Given the description of an element on the screen output the (x, y) to click on. 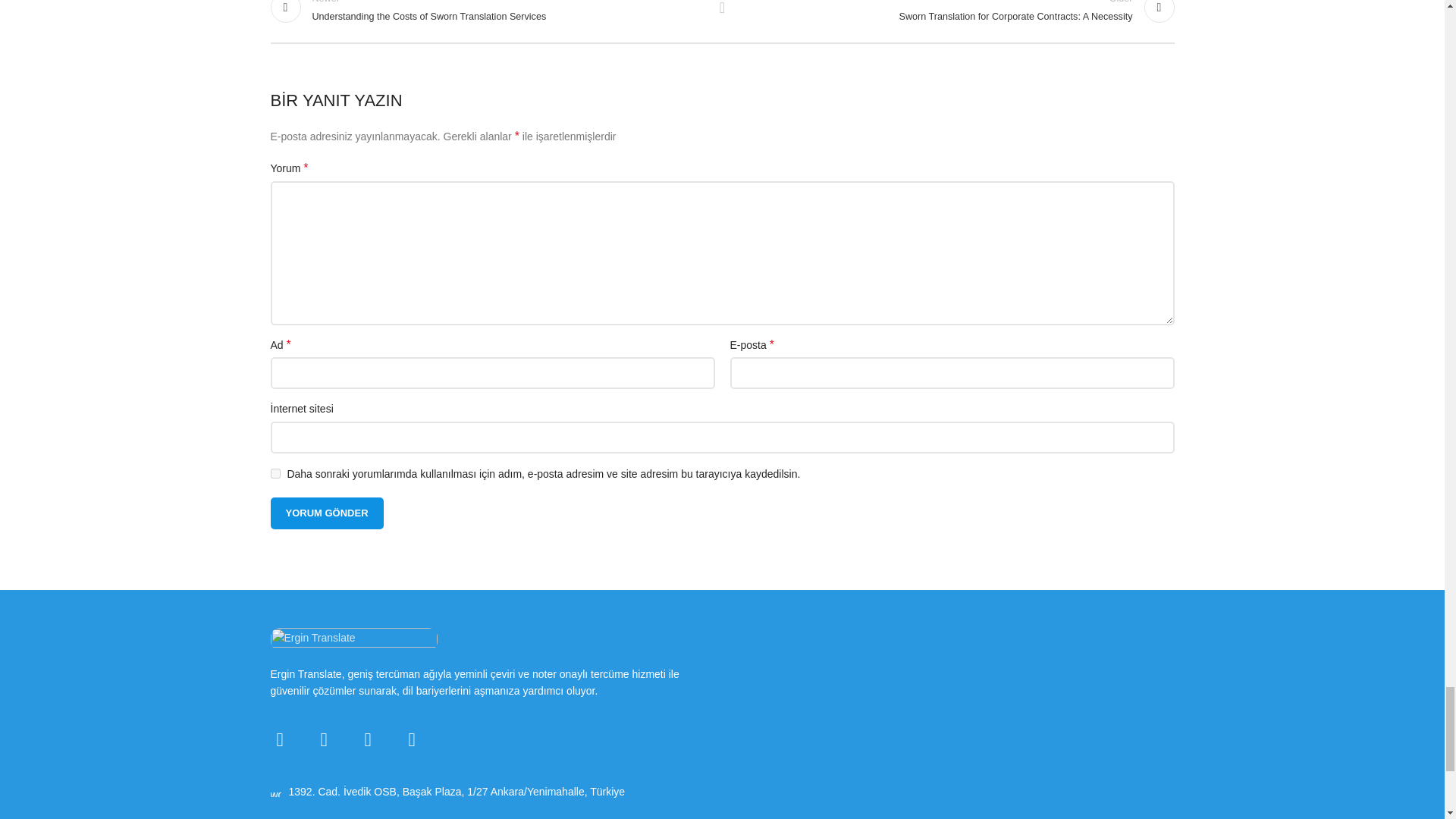
wd-cursor-light (275, 791)
yes (274, 473)
Ergin Translate (352, 639)
